Given the description of an element on the screen output the (x, y) to click on. 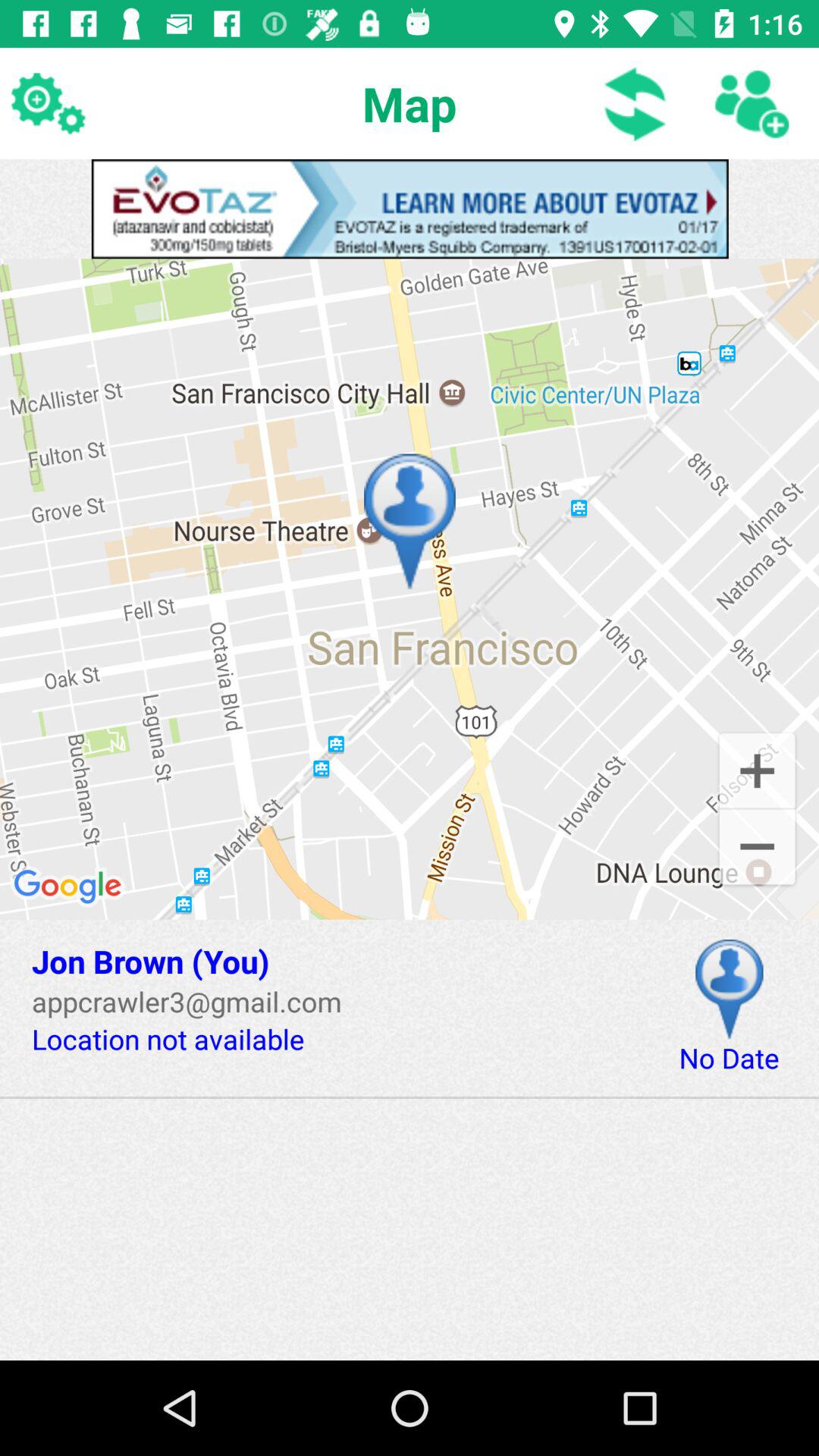
refresh page (635, 103)
